Given the description of an element on the screen output the (x, y) to click on. 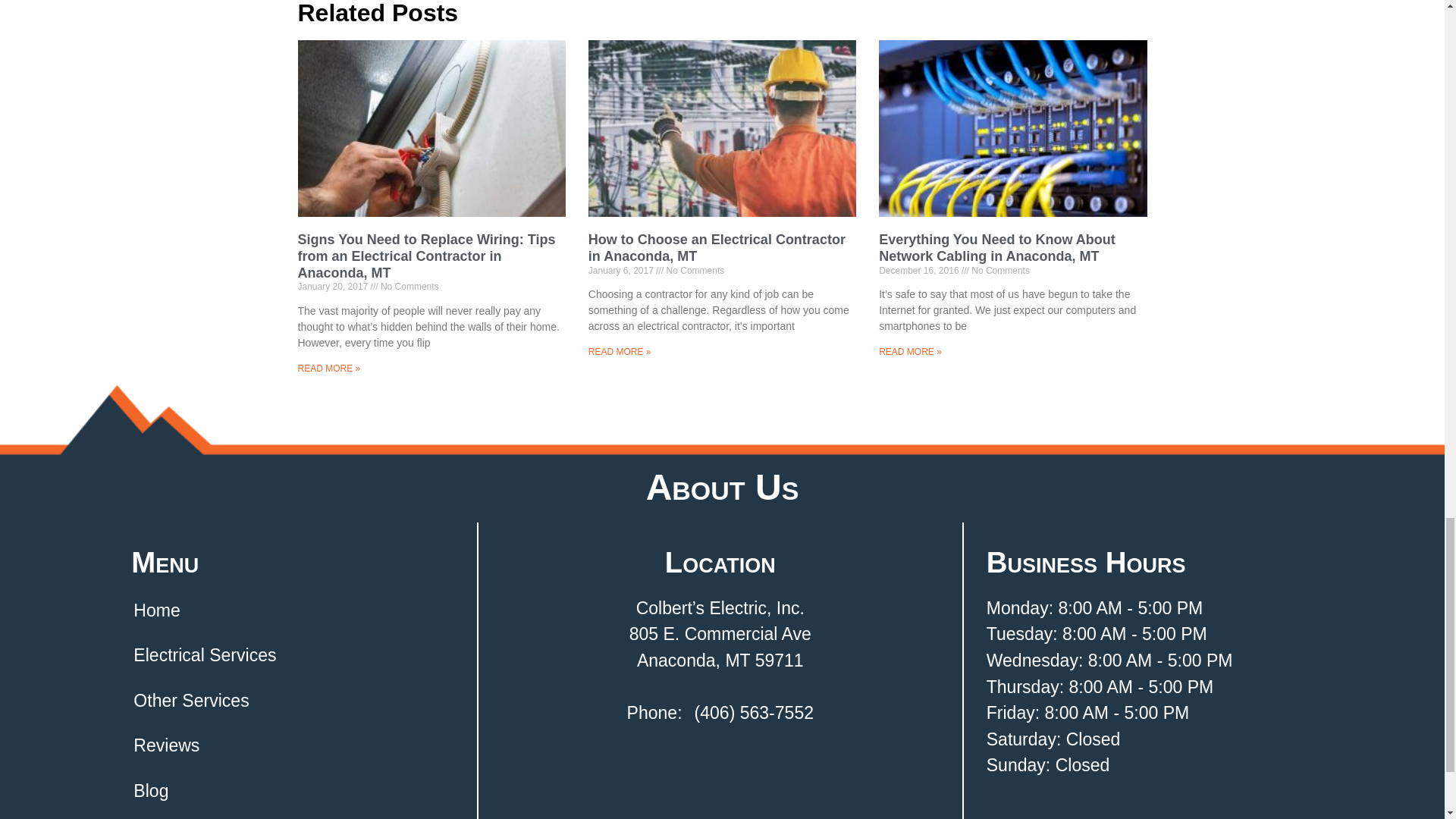
Blog (291, 790)
Other Services (291, 700)
How to Choose an Electrical Contractor in Anaconda, MT (716, 247)
Reviews (291, 745)
Home (291, 610)
Electrical Services (291, 654)
